Given the description of an element on the screen output the (x, y) to click on. 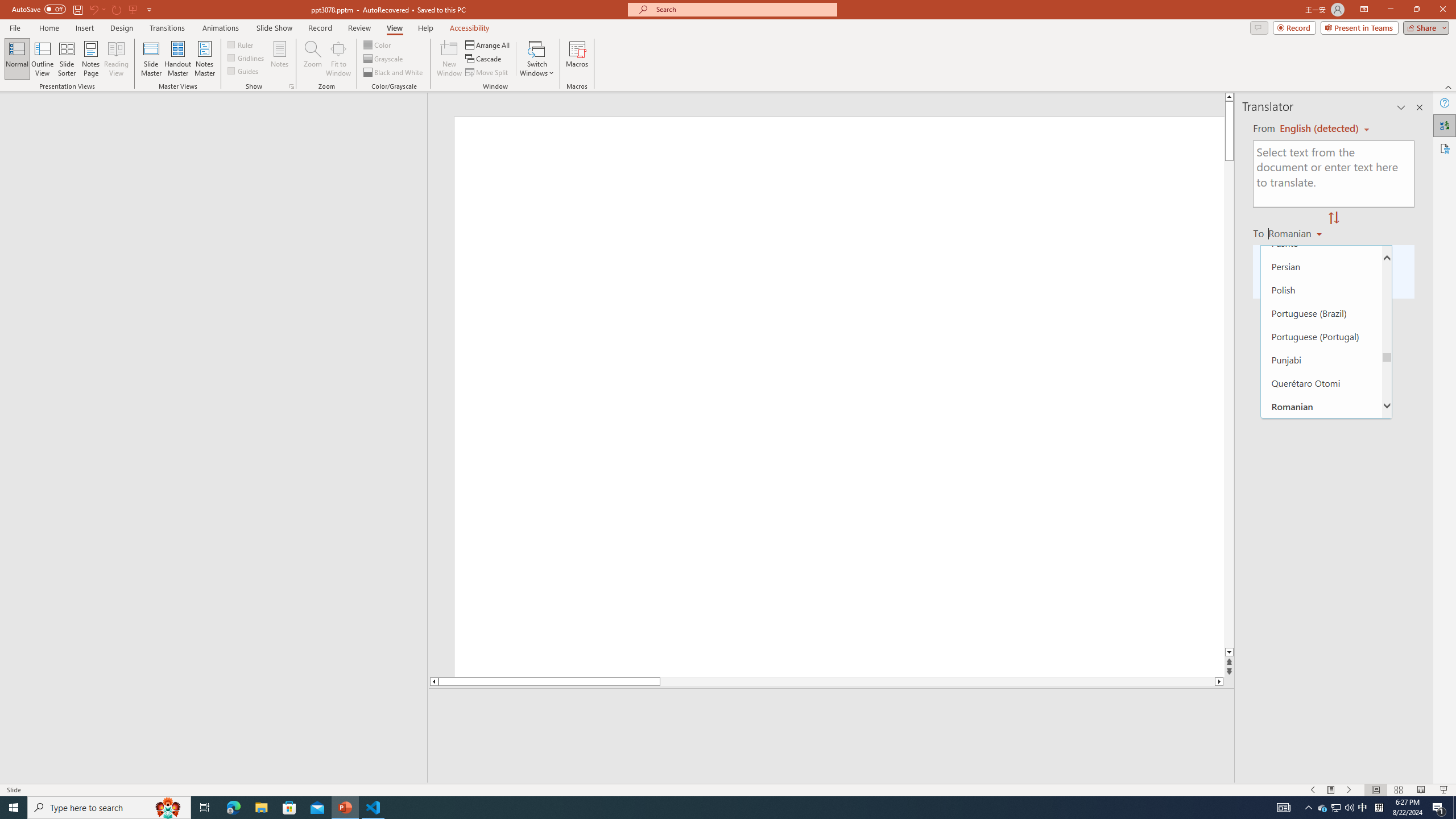
Arrange All (488, 44)
Cascade (484, 58)
Polish (1320, 289)
Ruler (241, 44)
Sesotho (1320, 545)
Sesotho sa Leboa (1320, 568)
Setswana (1320, 592)
